Given the description of an element on the screen output the (x, y) to click on. 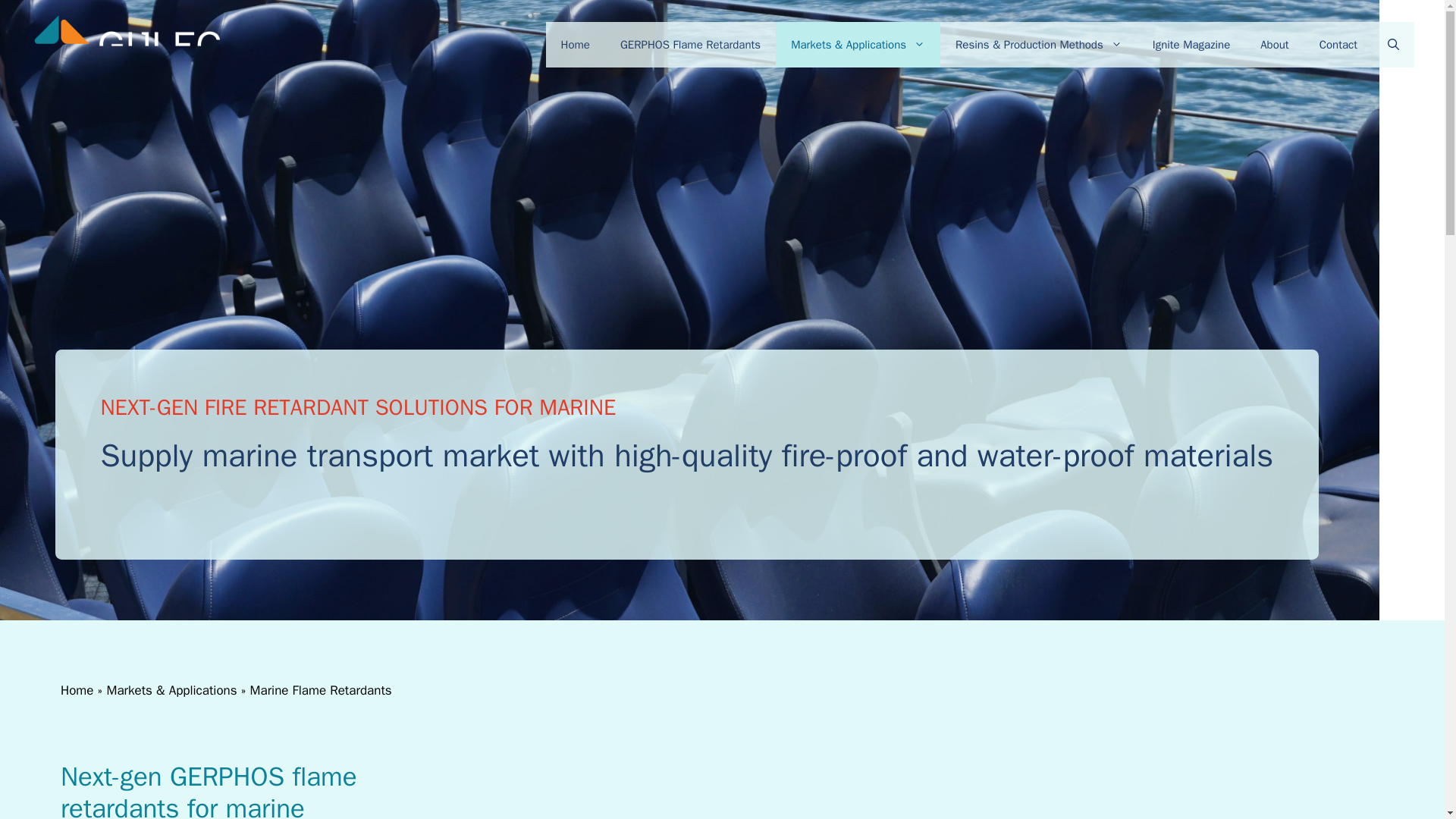
Gulec Chemicals (124, 44)
About (1273, 44)
GERPHOS Flame Retardants (690, 44)
Contact (1338, 44)
Ignite Magazine (1190, 44)
Gulec Chemicals (124, 43)
Home (575, 44)
